Given the description of an element on the screen output the (x, y) to click on. 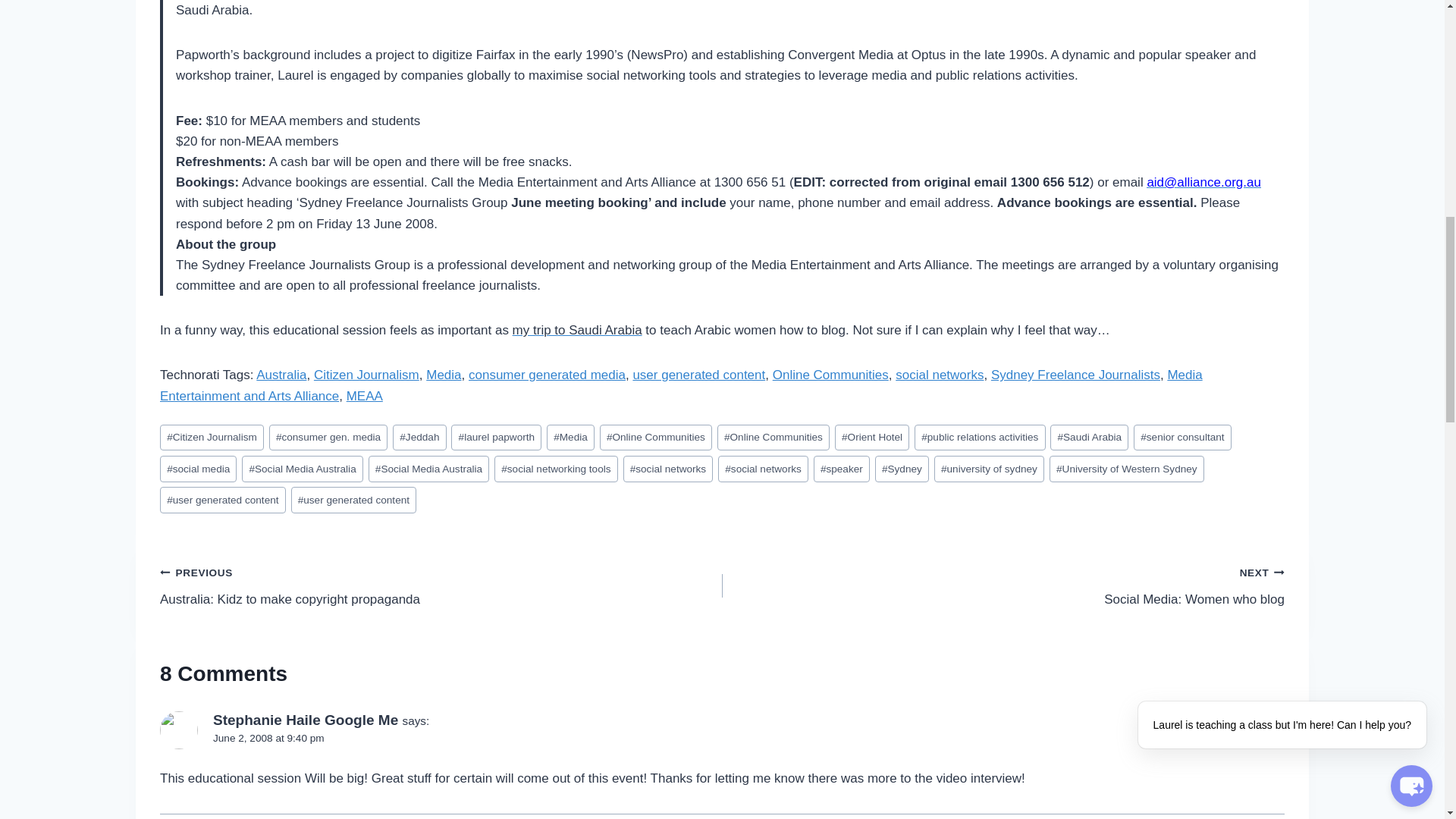
Social Media Australia (301, 468)
Social Media Australia (428, 468)
Online Communities (773, 438)
Citizen Journalism (211, 438)
Citizen Journalism (366, 374)
laurel papworth (496, 438)
Media (570, 438)
public relations activities (979, 438)
social networking tools (556, 468)
my trip to Saudi Arabia (577, 329)
Orient Hotel (871, 438)
Saudi Arabia (1088, 438)
Jeddah (419, 438)
senior consultant (1182, 438)
Online Communities (655, 438)
